Given the description of an element on the screen output the (x, y) to click on. 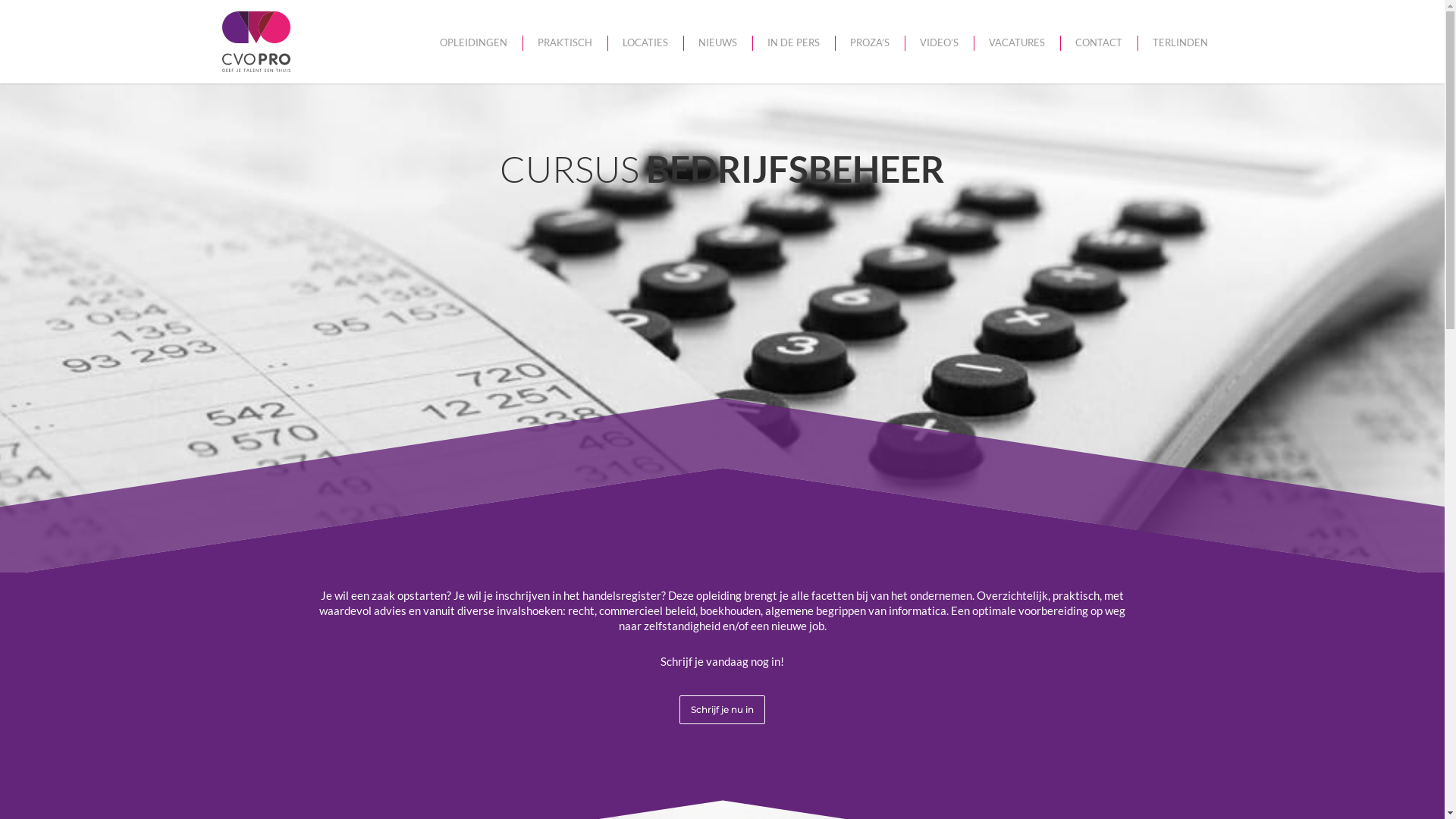
IN DE PERS Element type: text (793, 41)
TERLINDEN Element type: text (1180, 41)
CONTACT Element type: text (1098, 41)
PRAKTISCH Element type: text (563, 41)
Schrijf je nu in Element type: text (722, 709)
LOCATIES Element type: text (644, 41)
OPLEIDINGEN Element type: text (473, 41)
NIEUWS Element type: text (716, 41)
VACATURES Element type: text (1016, 41)
